Given the description of an element on the screen output the (x, y) to click on. 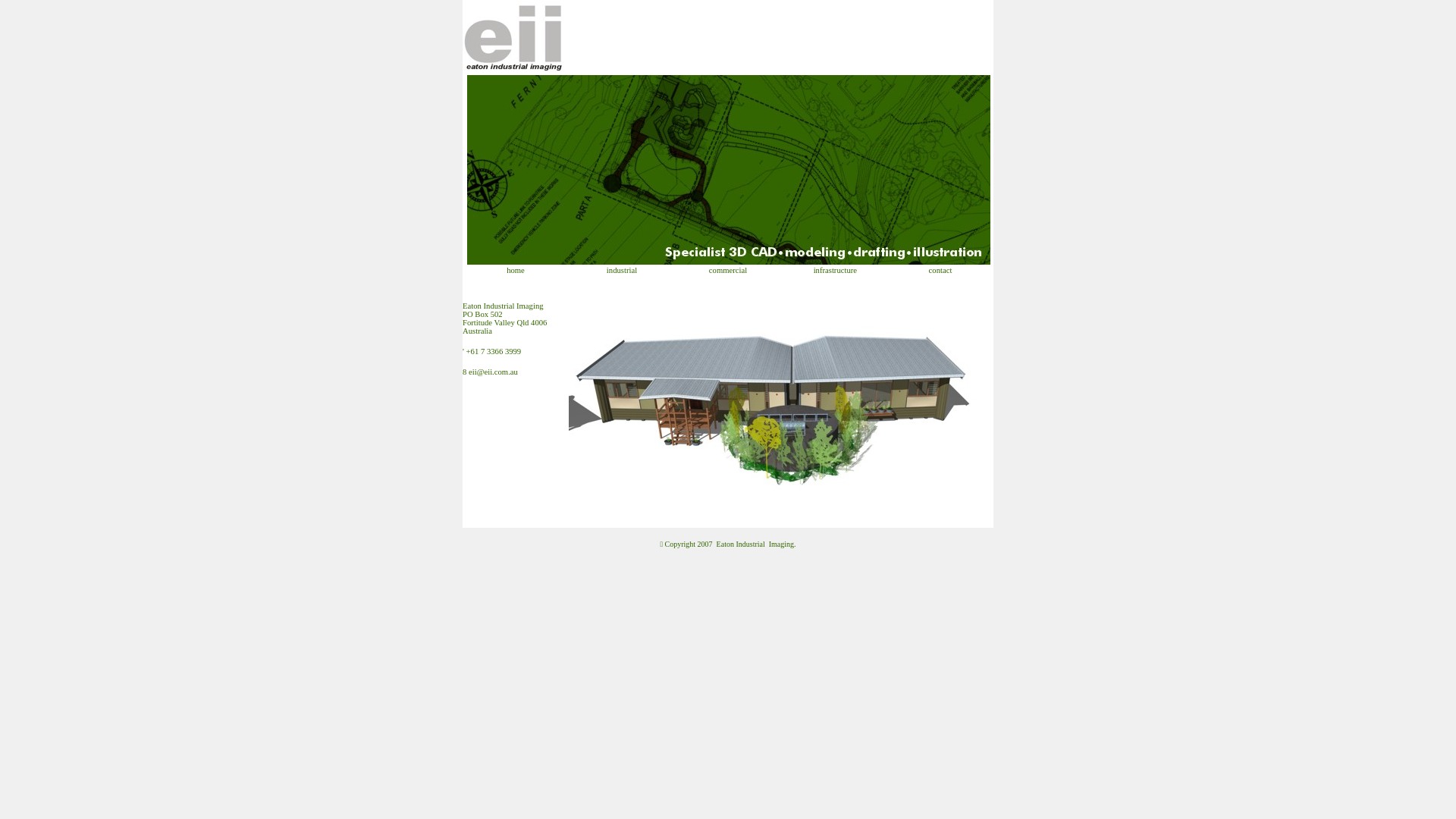
industrial Element type: text (621, 270)
contact Element type: text (940, 270)
commercial Element type: text (727, 270)
 infrastructure Element type: text (833, 270)
home Element type: text (515, 270)
eii@eii.com.au Element type: text (492, 371)
